Given the description of an element on the screen output the (x, y) to click on. 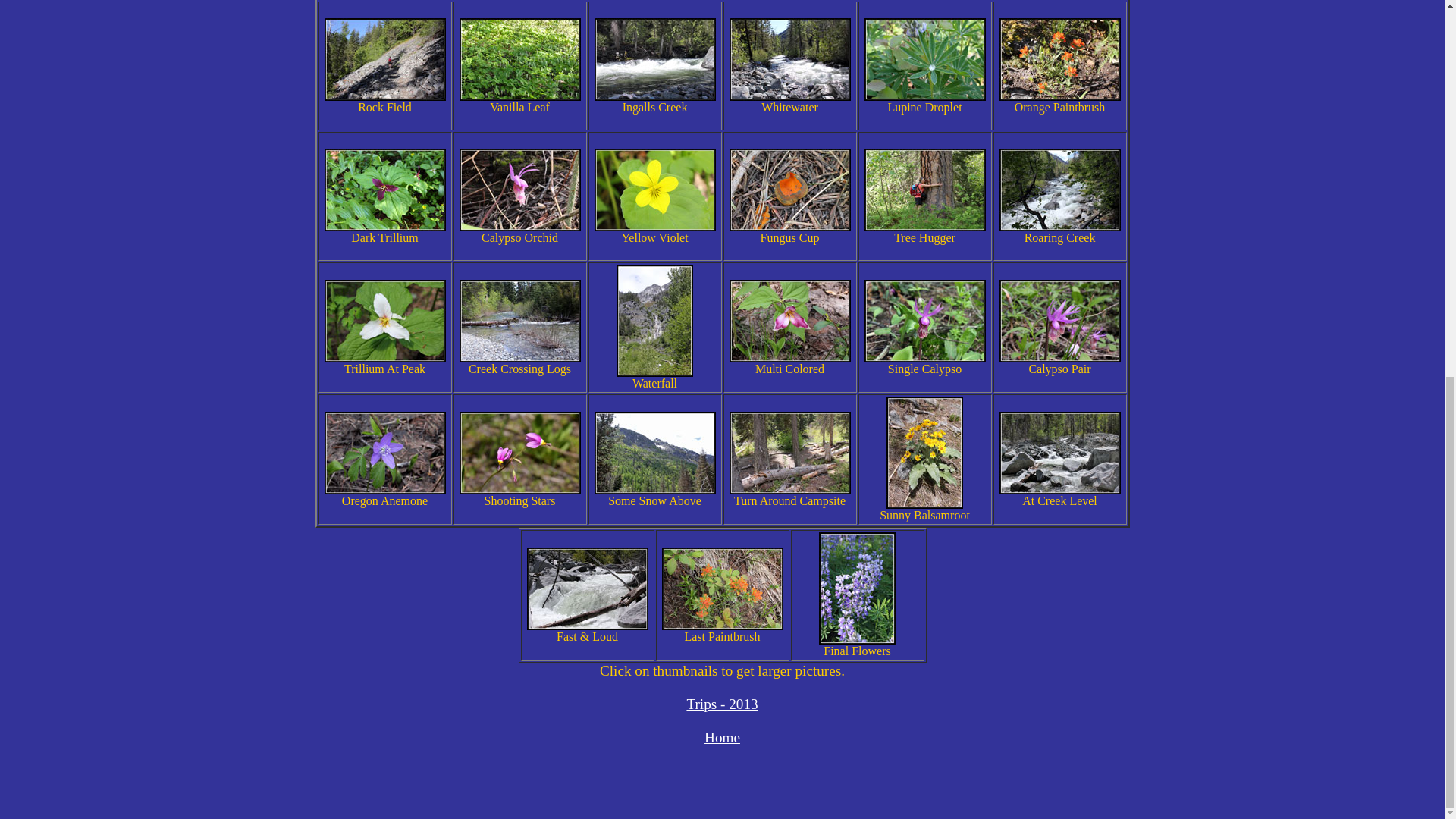
Trips - 2013 (721, 703)
Home (721, 737)
